Given the description of an element on the screen output the (x, y) to click on. 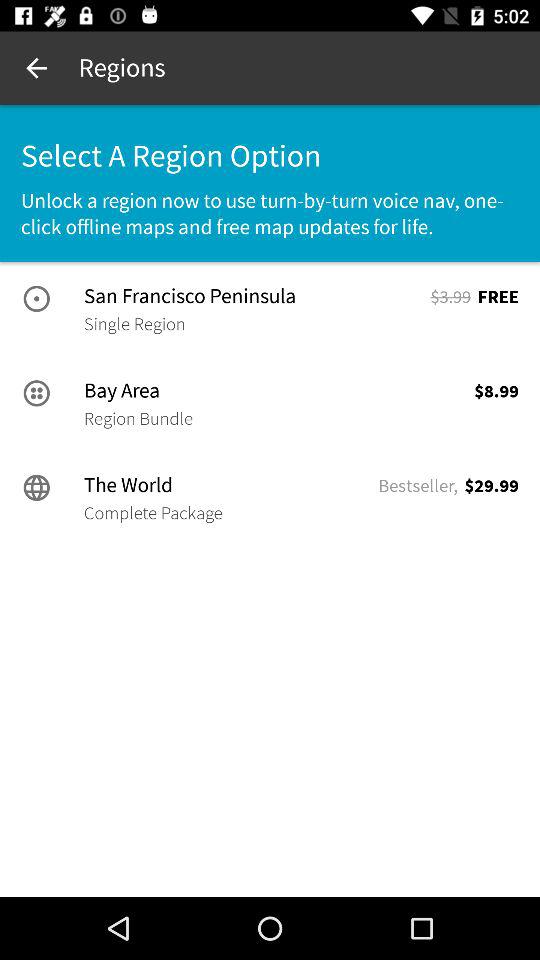
select the world item (229, 485)
